Given the description of an element on the screen output the (x, y) to click on. 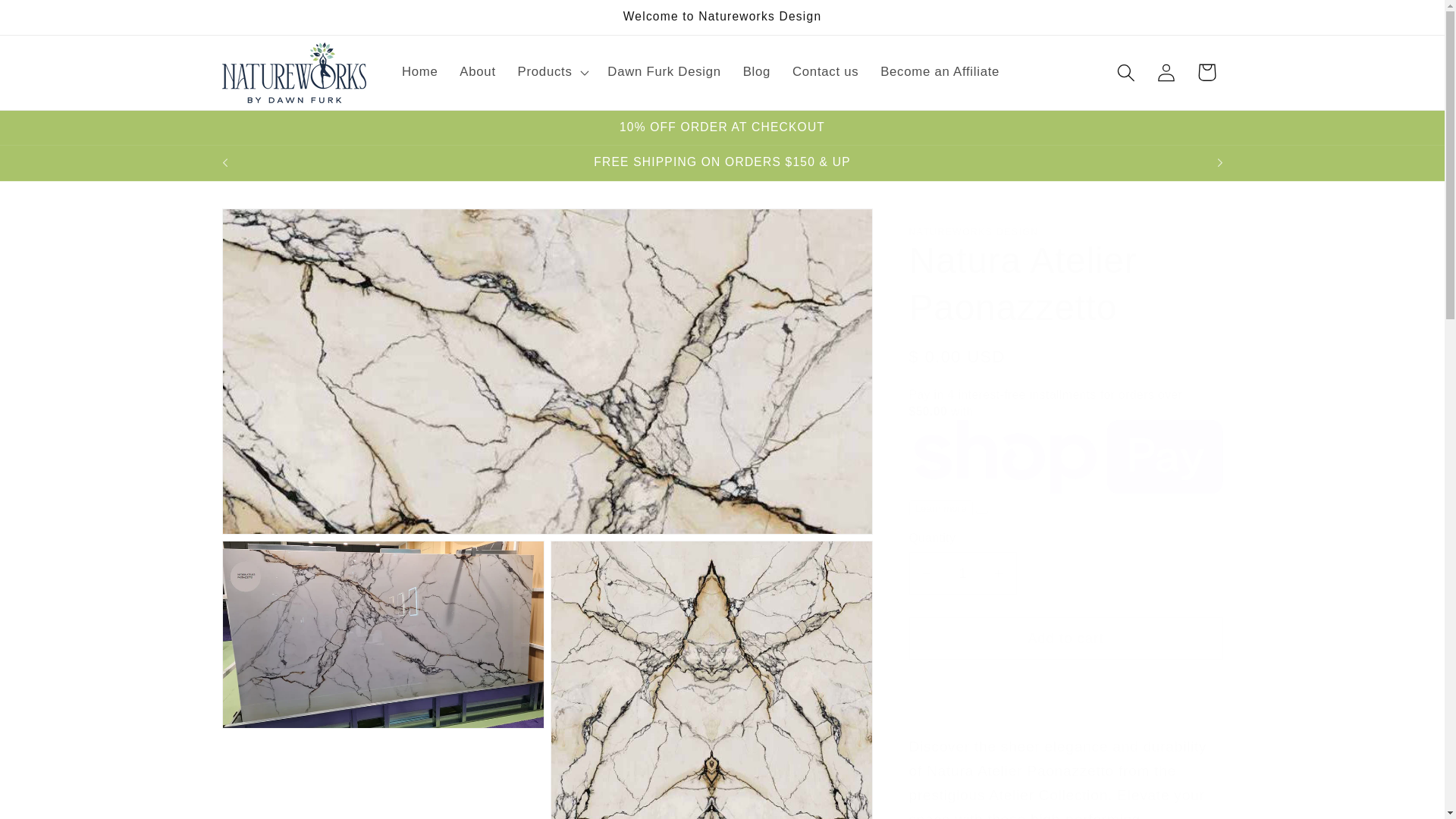
Home (419, 72)
Skip to content (55, 20)
1 (962, 573)
Open media 2 in modal (382, 679)
About (477, 72)
Open media 3 in modal (711, 679)
